Given the description of an element on the screen output the (x, y) to click on. 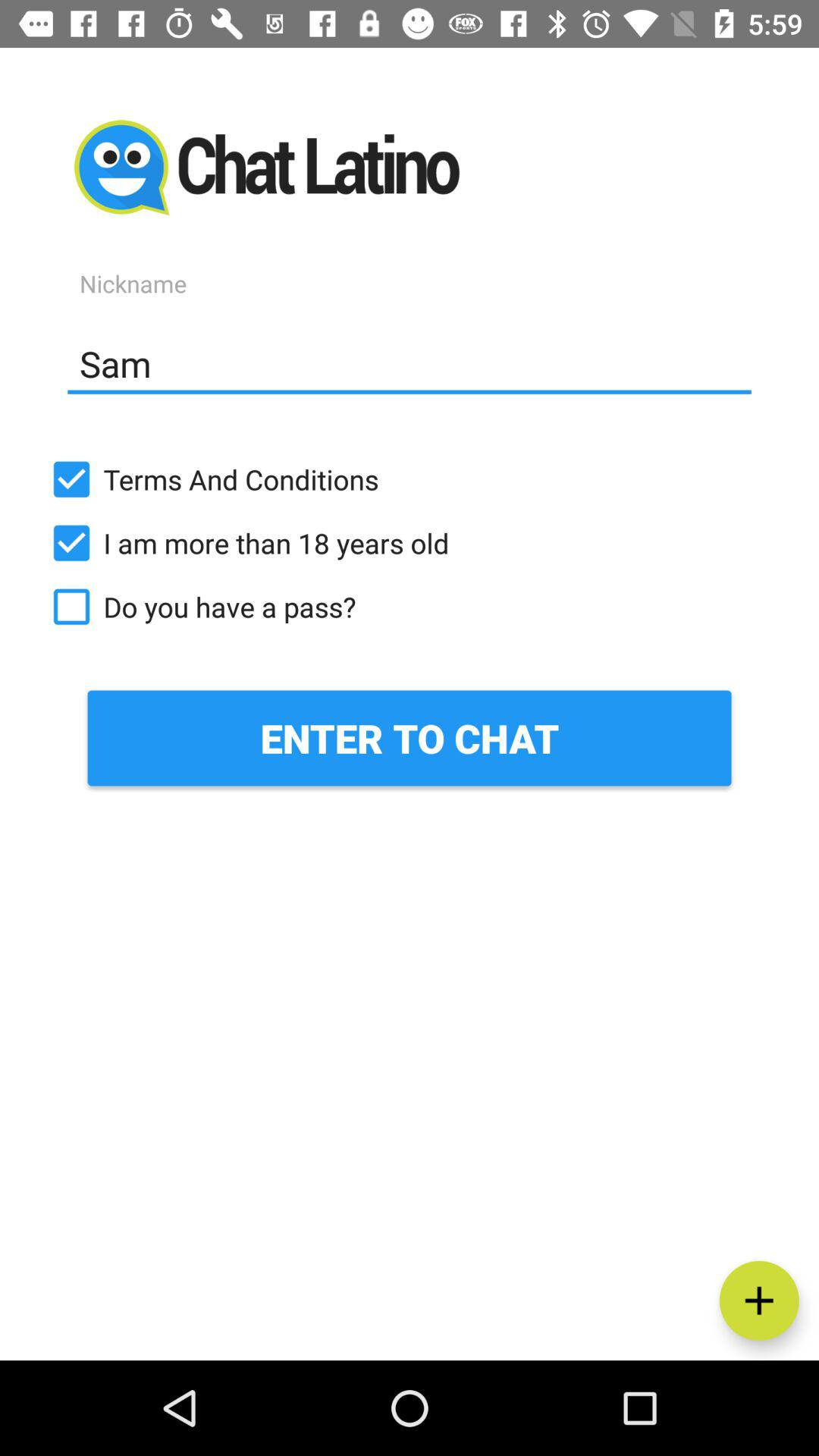
jump until the i am more (409, 543)
